Given the description of an element on the screen output the (x, y) to click on. 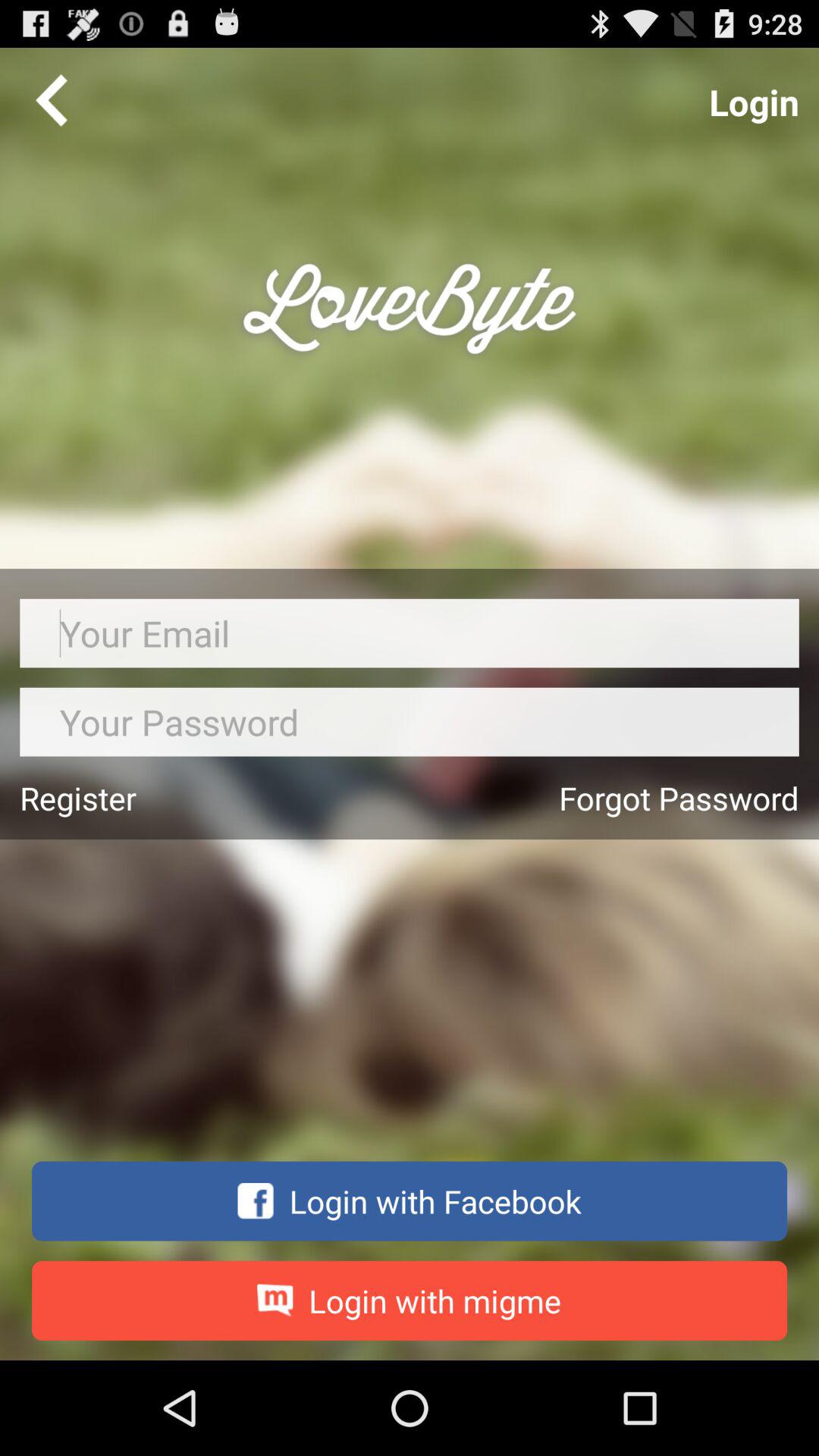
enter your email (409, 632)
